Given the description of an element on the screen output the (x, y) to click on. 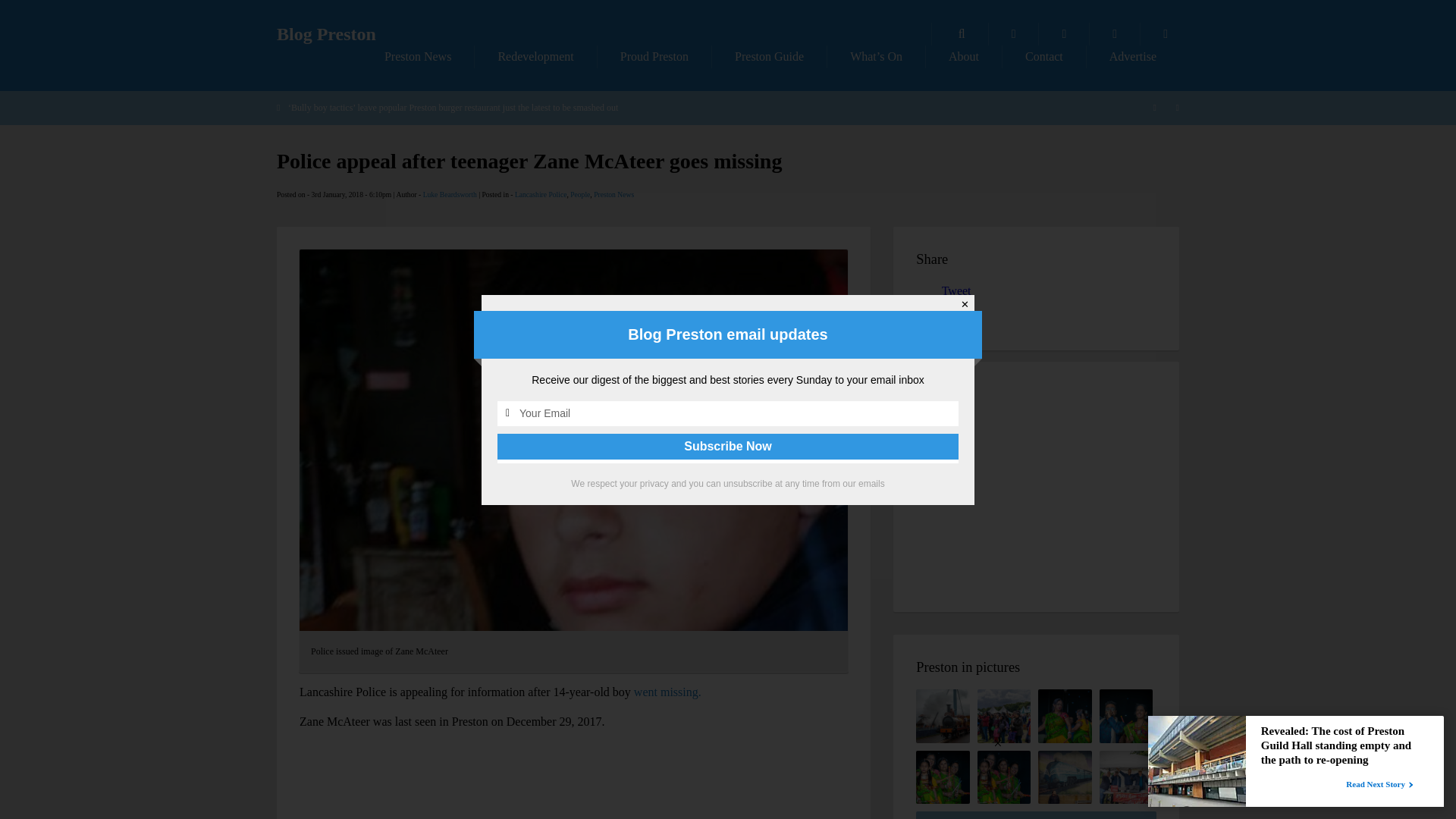
Redevelopment (534, 56)
Blog Preston (325, 33)
Preston News (613, 194)
Lancashire Police (540, 194)
went missing. (667, 691)
Blog Preston on Facebook (1064, 33)
Photos from around Preston (1013, 33)
About (963, 56)
About Blog Preston (963, 56)
Advertise on Blog Preston (1132, 56)
Contact (1044, 56)
Proud Preston (653, 56)
Preston Guide (769, 56)
Proud Preston (653, 56)
Blog Preston on Instagram (1165, 33)
